Given the description of an element on the screen output the (x, y) to click on. 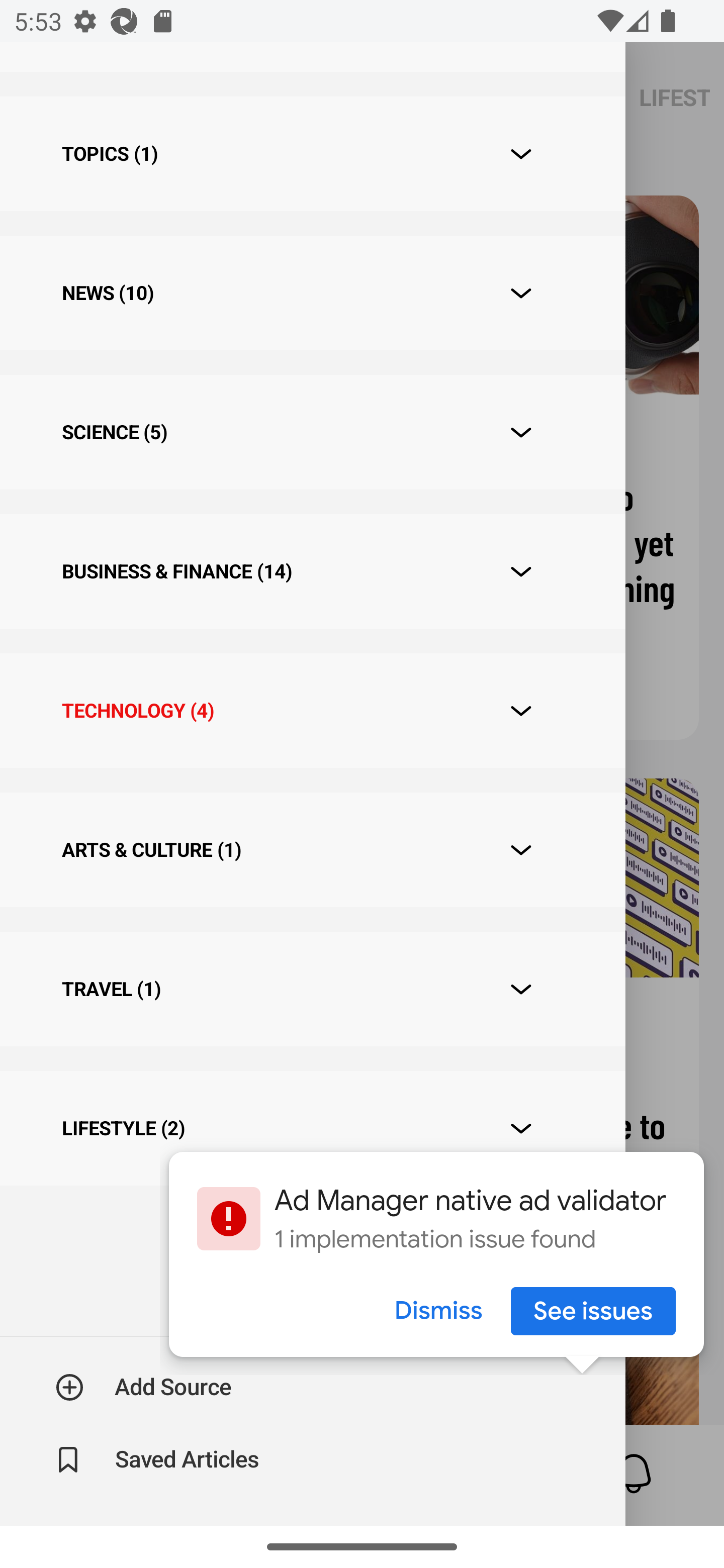
TOPICS  (1) Expand Button (312, 154)
Expand Button (521, 153)
NEWS  (10) Expand Button (312, 292)
Expand Button (521, 292)
SCIENCE  (5) Expand Button (312, 431)
Expand Button (521, 432)
BUSINESS & FINANCE  (14) Expand Button (312, 571)
Expand Button (521, 571)
TECHNOLOGY  (4) Expand Button (312, 710)
Expand Button (521, 710)
ARTS & CULTURE  (1) Expand Button (312, 849)
Expand Button (521, 849)
TRAVEL  (1) Expand Button (312, 988)
Expand Button (521, 989)
LIFESTYLE  (2) Expand Button (312, 1127)
Expand Button (521, 1128)
Open Content Store Add Source (143, 1387)
Open Saved News  Saved Articles (158, 1459)
